Given the description of an element on the screen output the (x, y) to click on. 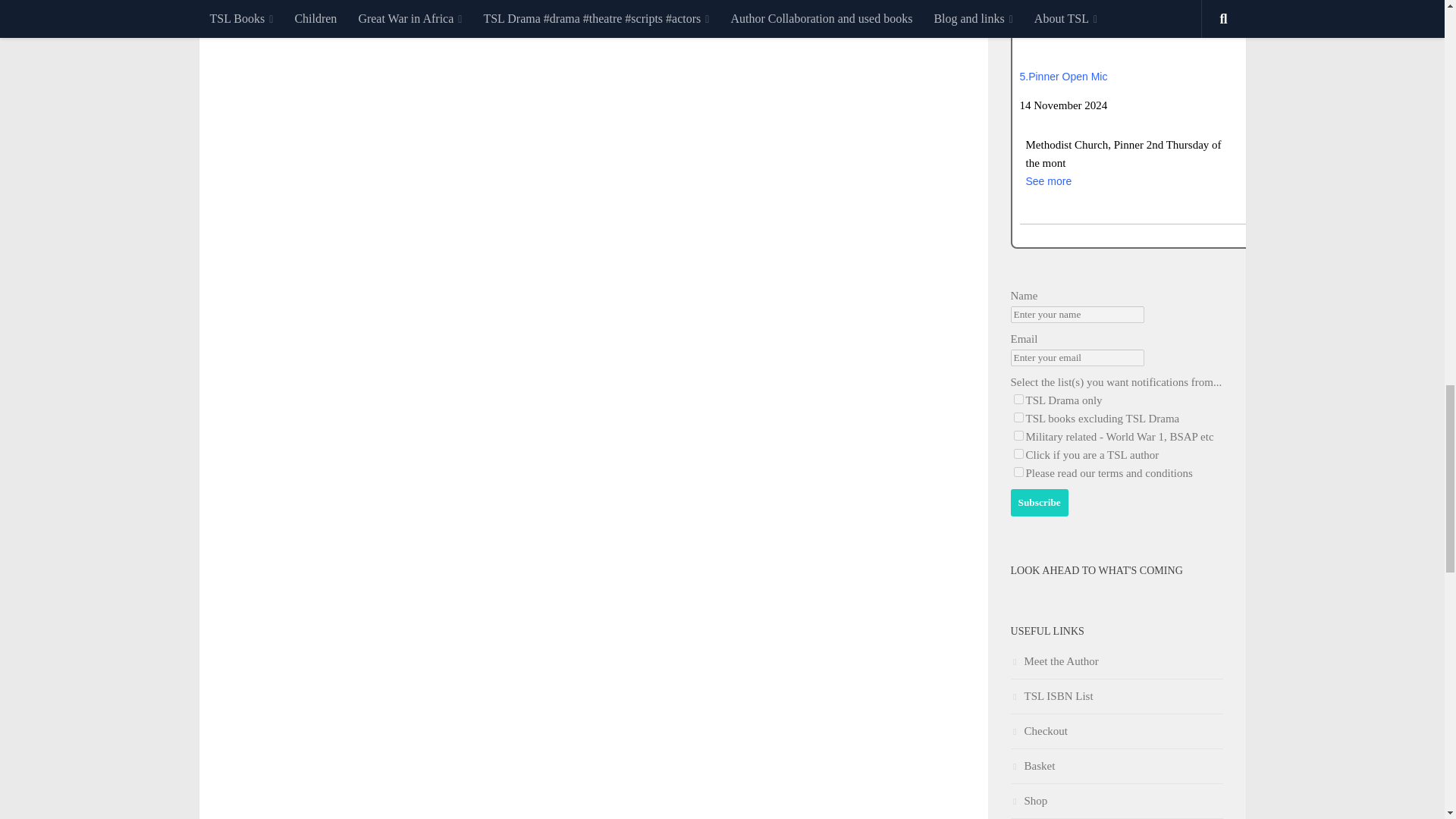
Subscribe (1038, 502)
true (1018, 471)
15cdb93e51c0 (1018, 398)
b318bf97de0b (1018, 417)
18f8016de1b4 (1018, 453)
5f9370e8386d (1018, 435)
